Given the description of an element on the screen output the (x, y) to click on. 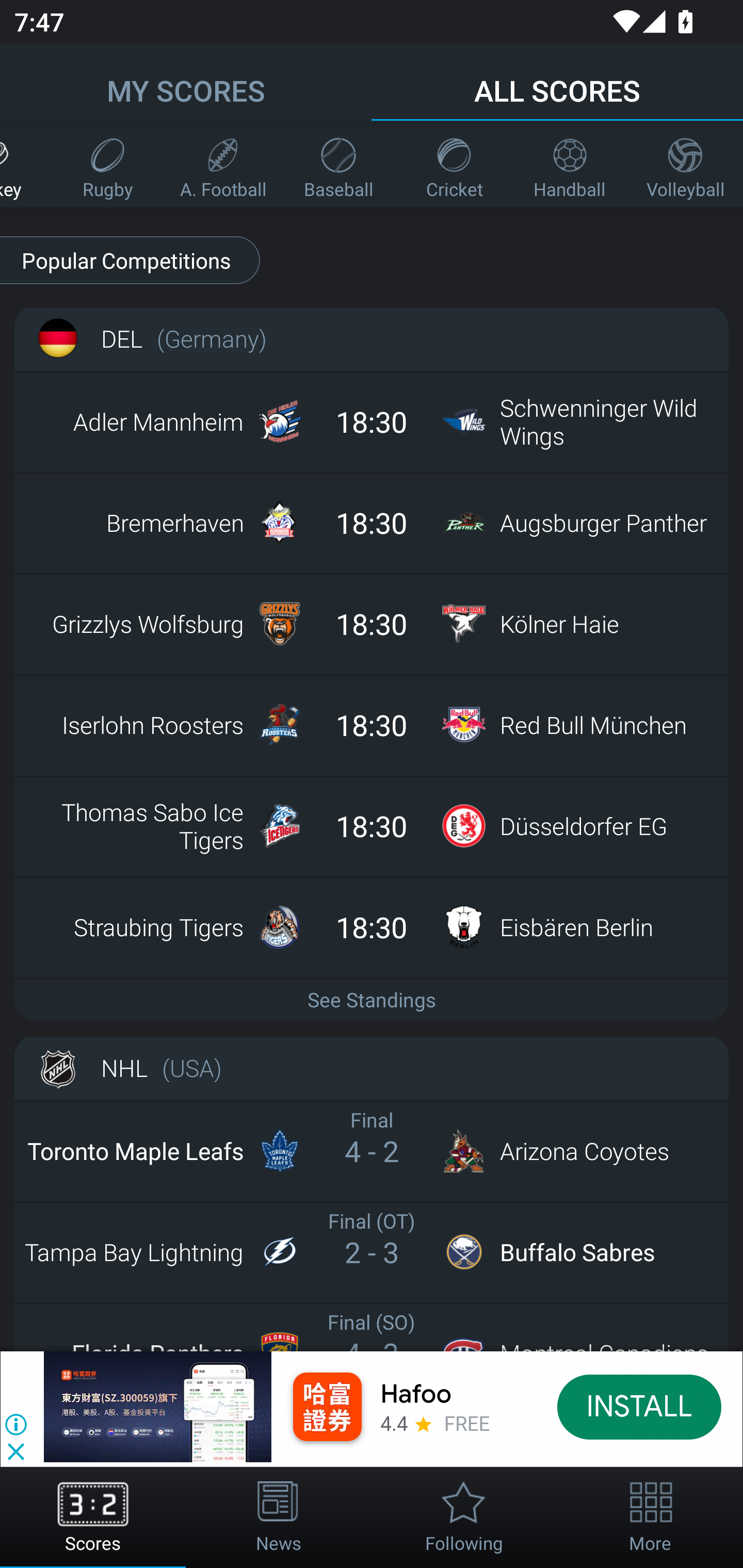
MY SCORES (185, 81)
ALL SCORES (557, 81)
Rugby (106, 163)
A. Football (222, 163)
Baseball (338, 163)
Cricket (453, 163)
Handball (569, 163)
Volleyball (685, 163)
DEL (Germany) (371, 338)
Adler Mannheim 18:30 Schwenninger Wild Wings (371, 421)
Bremerhaven 18:30 Augsburger Panther (371, 521)
Grizzlys Wolfsburg 18:30 Kölner Haie (371, 623)
Iserlohn Roosters 18:30 Red Bull München (371, 724)
Thomas Sabo Ice Tigers 18:30 Düsseldorfer EG (371, 825)
Straubing Tigers 18:30 Eisbären Berlin (371, 926)
See Standings (371, 998)
NHL (USA) (371, 1067)
Toronto Maple Leafs Final 4 - 2 Arizona Coyotes (371, 1150)
INSTALL (639, 1406)
Hafoo (416, 1394)
News (278, 1517)
Following (464, 1517)
More (650, 1517)
